Given the description of an element on the screen output the (x, y) to click on. 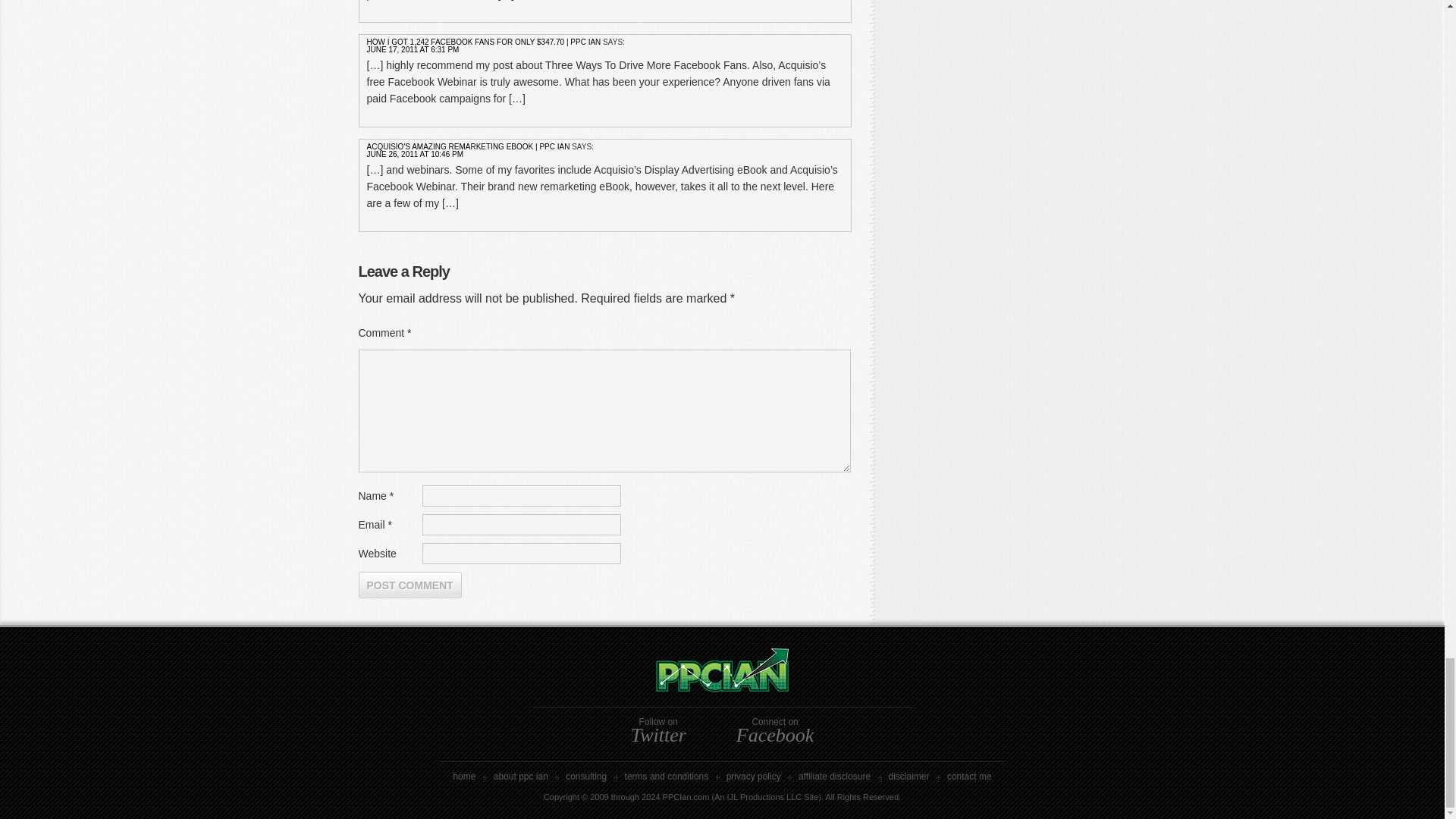
Post Comment (409, 584)
PPC Ian (722, 686)
